Given the description of an element on the screen output the (x, y) to click on. 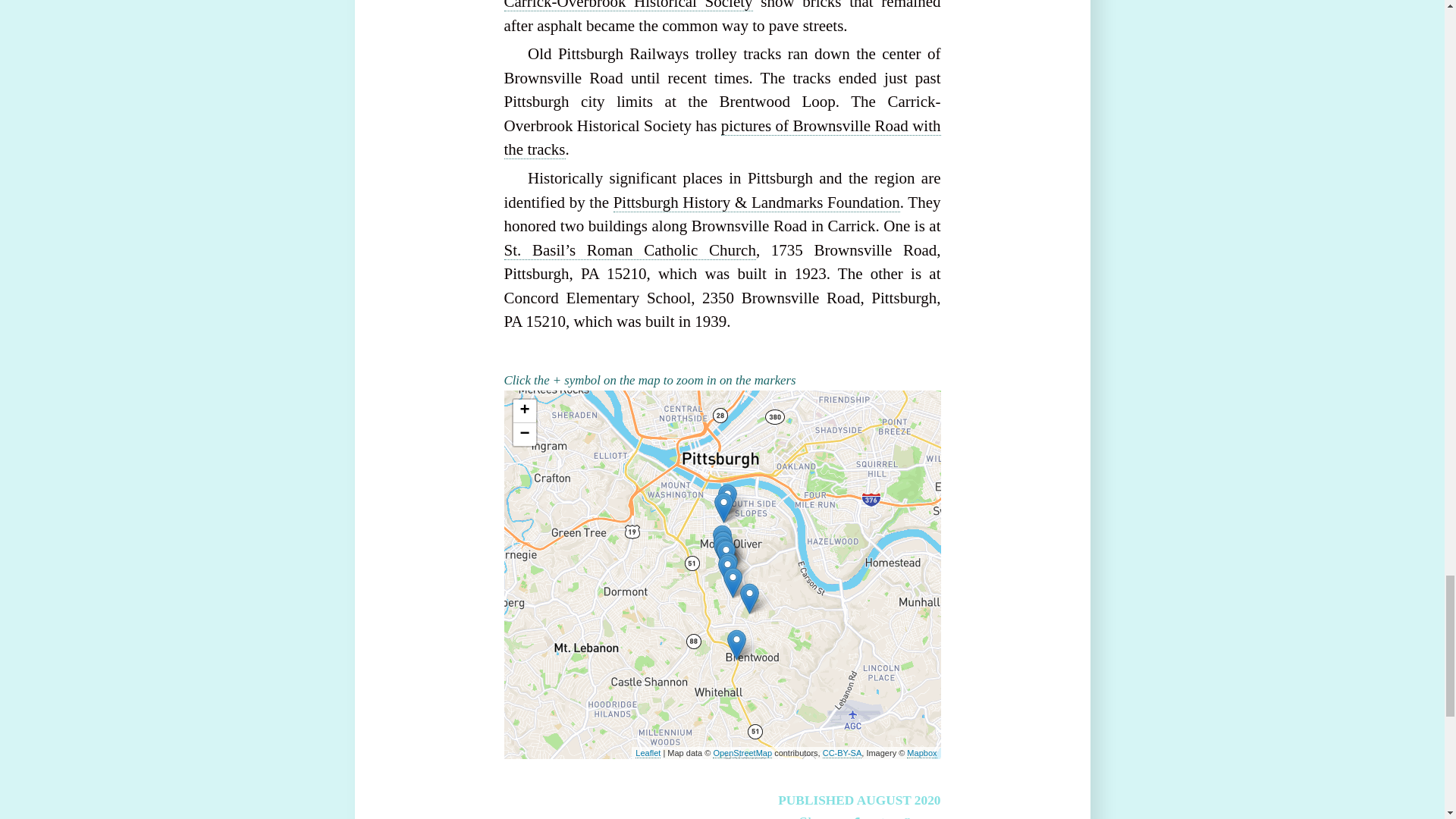
pictures of Brownsville Road with the tracks (721, 138)
A JS library for interactive maps (647, 753)
Zoom in (523, 411)
Share this on Facebook (855, 814)
Share this through Email (927, 814)
Carrick-Overbrook Historical Society (627, 5)
Zoom out (523, 434)
Share this on Twitter (879, 814)
